Given the description of an element on the screen output the (x, y) to click on. 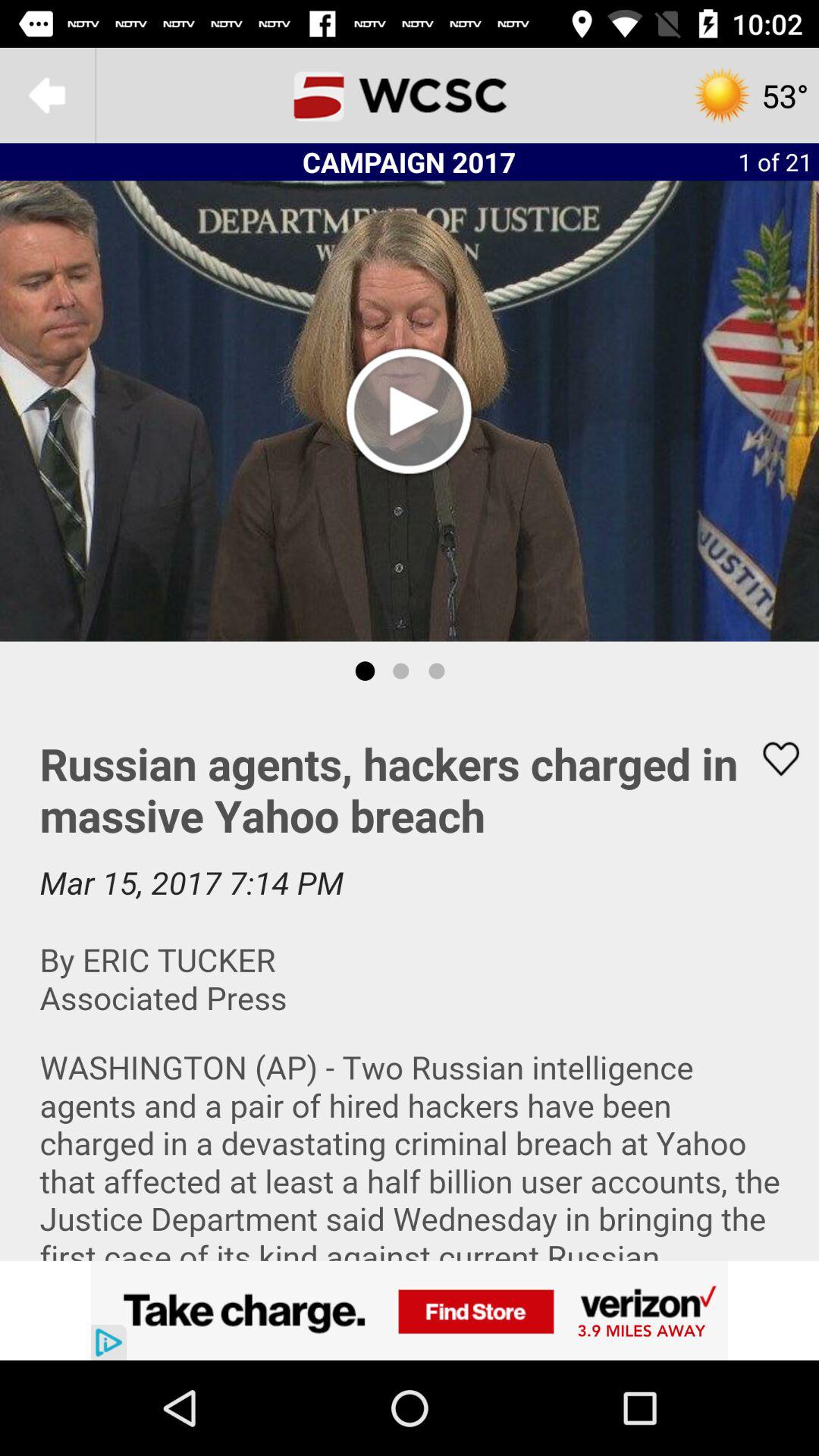
go back (47, 95)
